Given the description of an element on the screen output the (x, y) to click on. 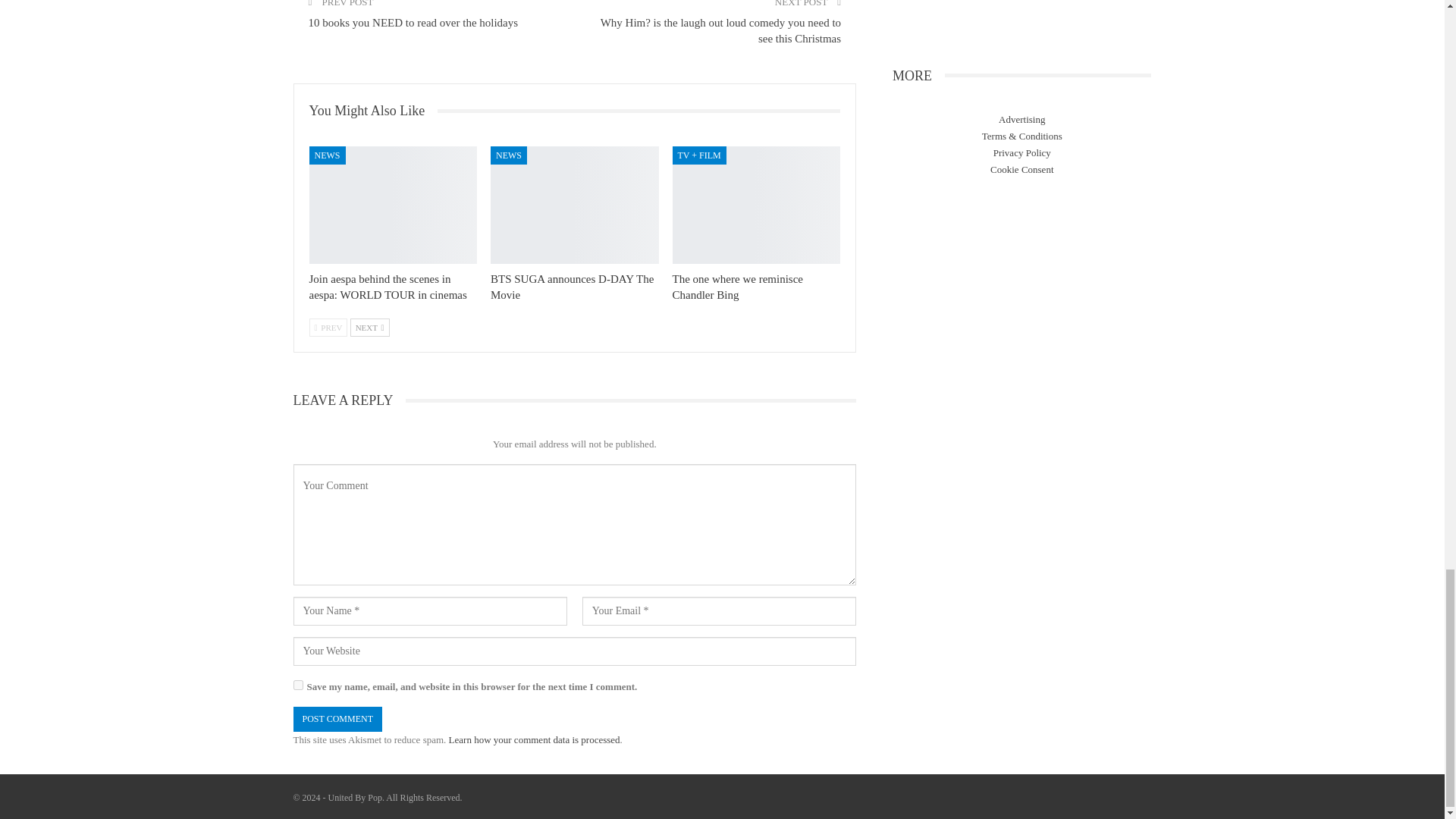
yes (297, 685)
Post Comment (336, 719)
